Given the description of an element on the screen output the (x, y) to click on. 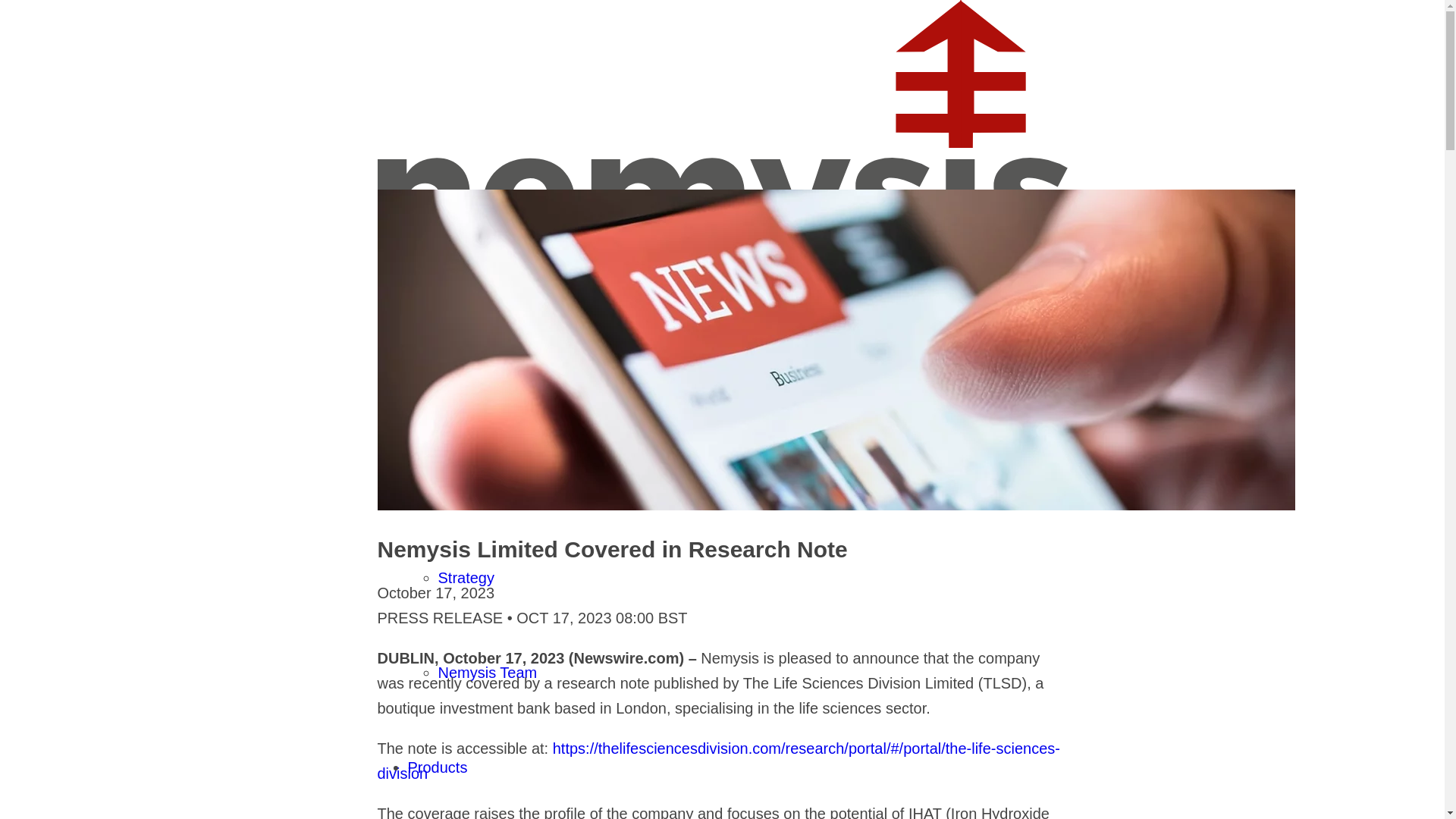
Home (427, 388)
About (426, 483)
Products (437, 767)
Nemysis Team (487, 672)
Strategy (466, 577)
